Given the description of an element on the screen output the (x, y) to click on. 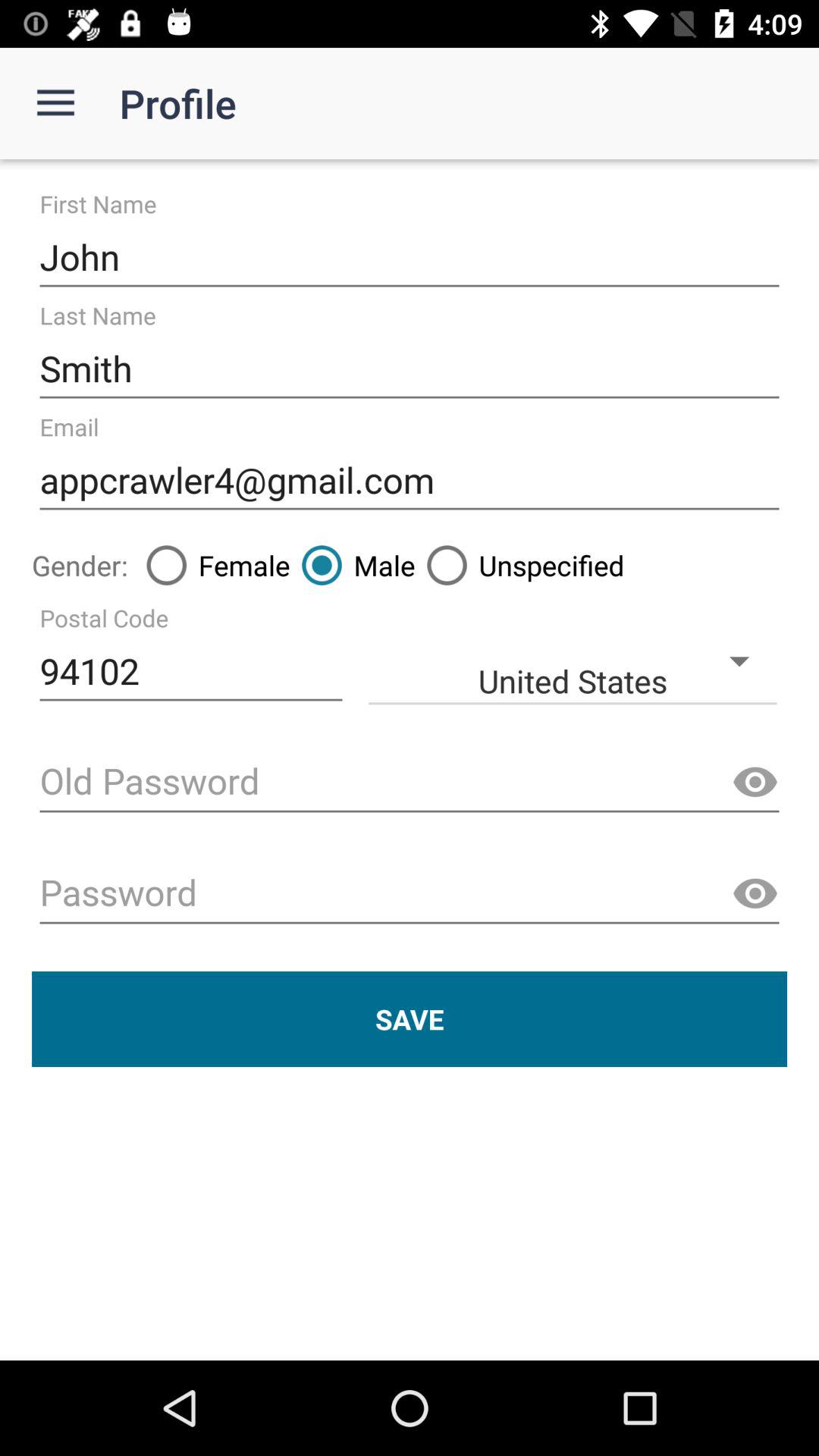
open the icon above the female icon (409, 480)
